Given the description of an element on the screen output the (x, y) to click on. 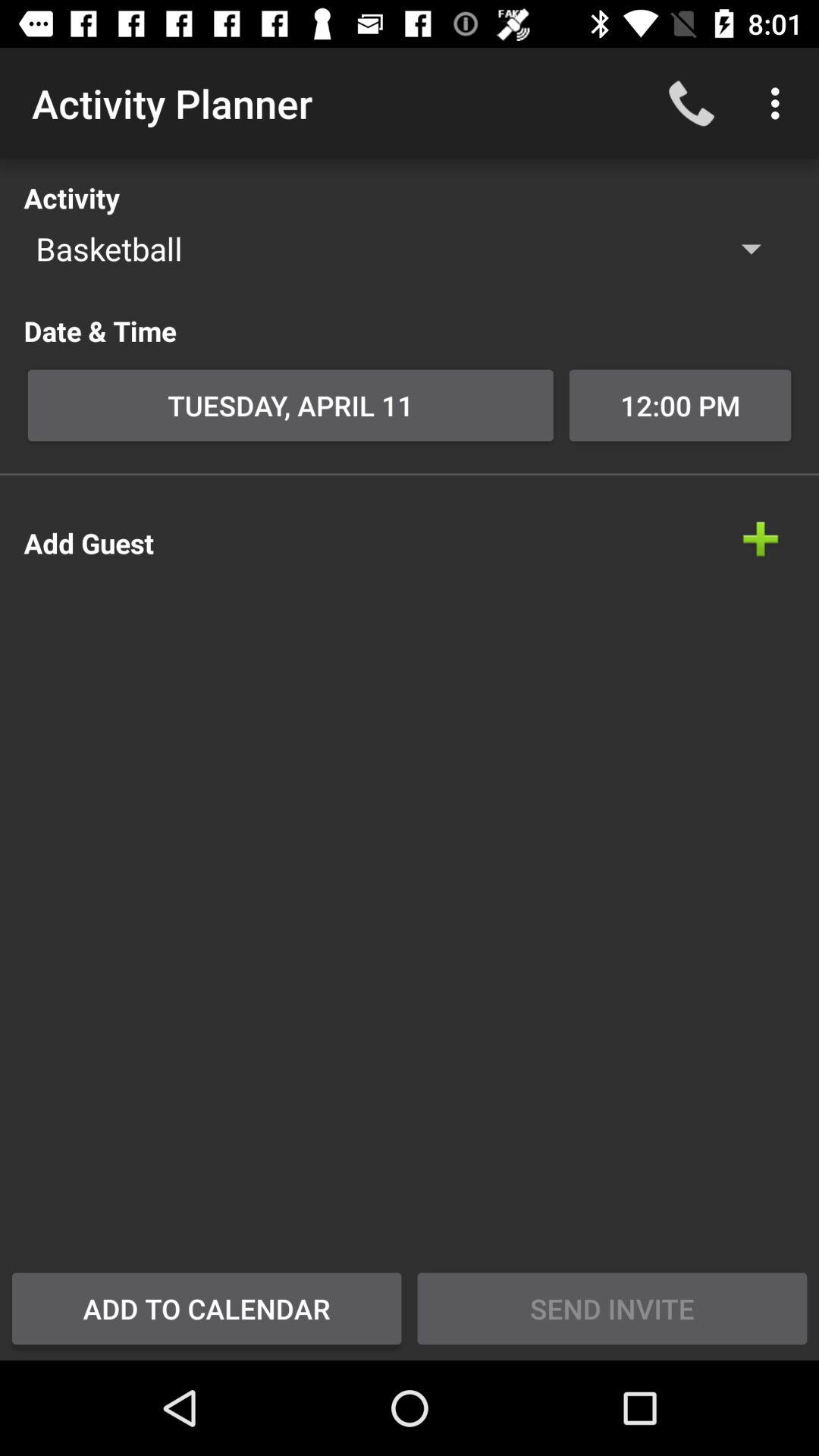
launch icon to the right of the activity planner icon (691, 103)
